Given the description of an element on the screen output the (x, y) to click on. 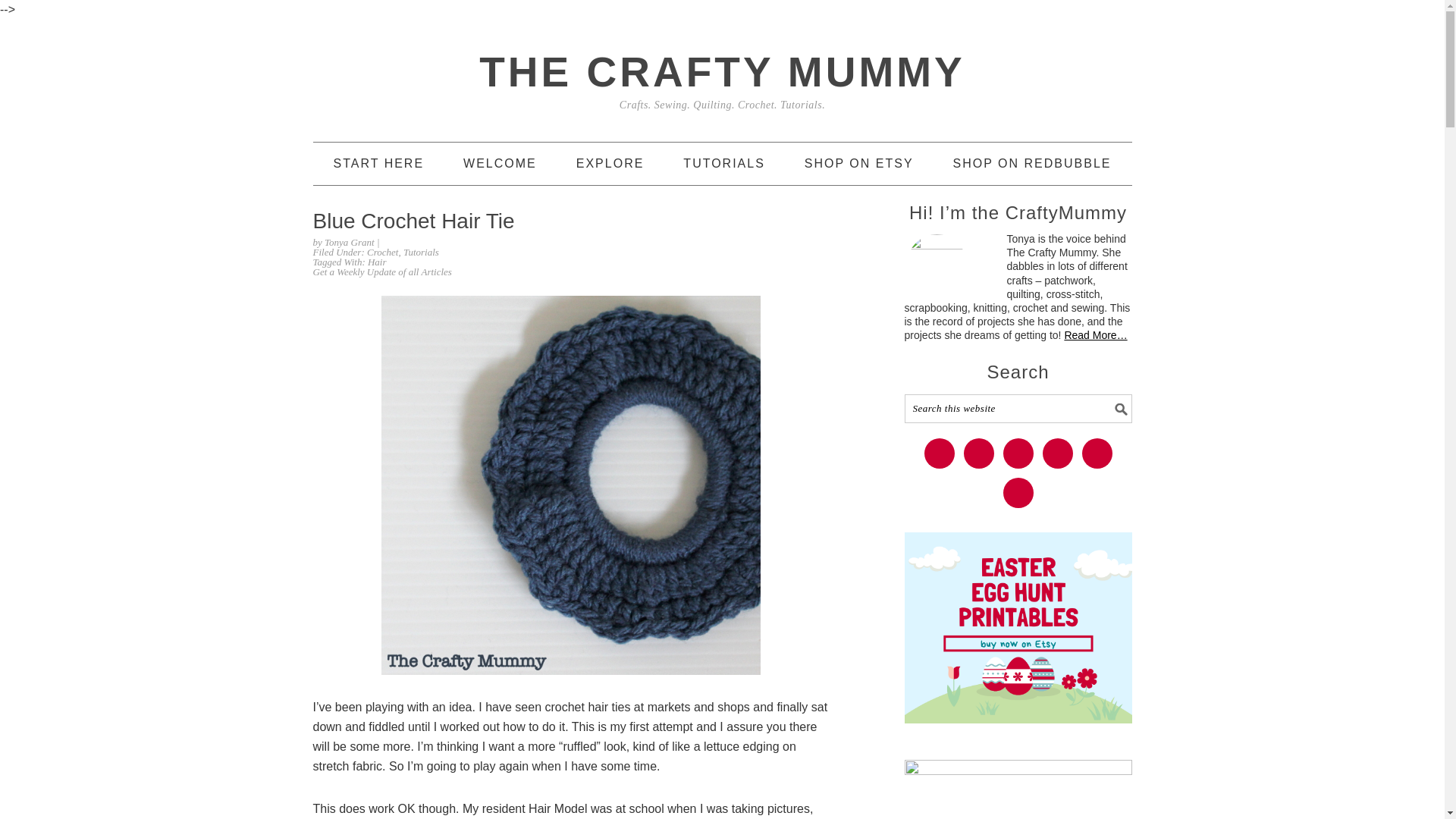
SHOP ON ETSY (859, 163)
Hair (377, 261)
Crochet (381, 251)
EXPLORE (610, 163)
START HERE (379, 163)
THE CRAFTY MUMMY (721, 71)
Tutorials (421, 251)
TUTORIALS (723, 163)
WELCOME (500, 163)
SHOP ON REDBUBBLE (1032, 163)
